Given the description of an element on the screen output the (x, y) to click on. 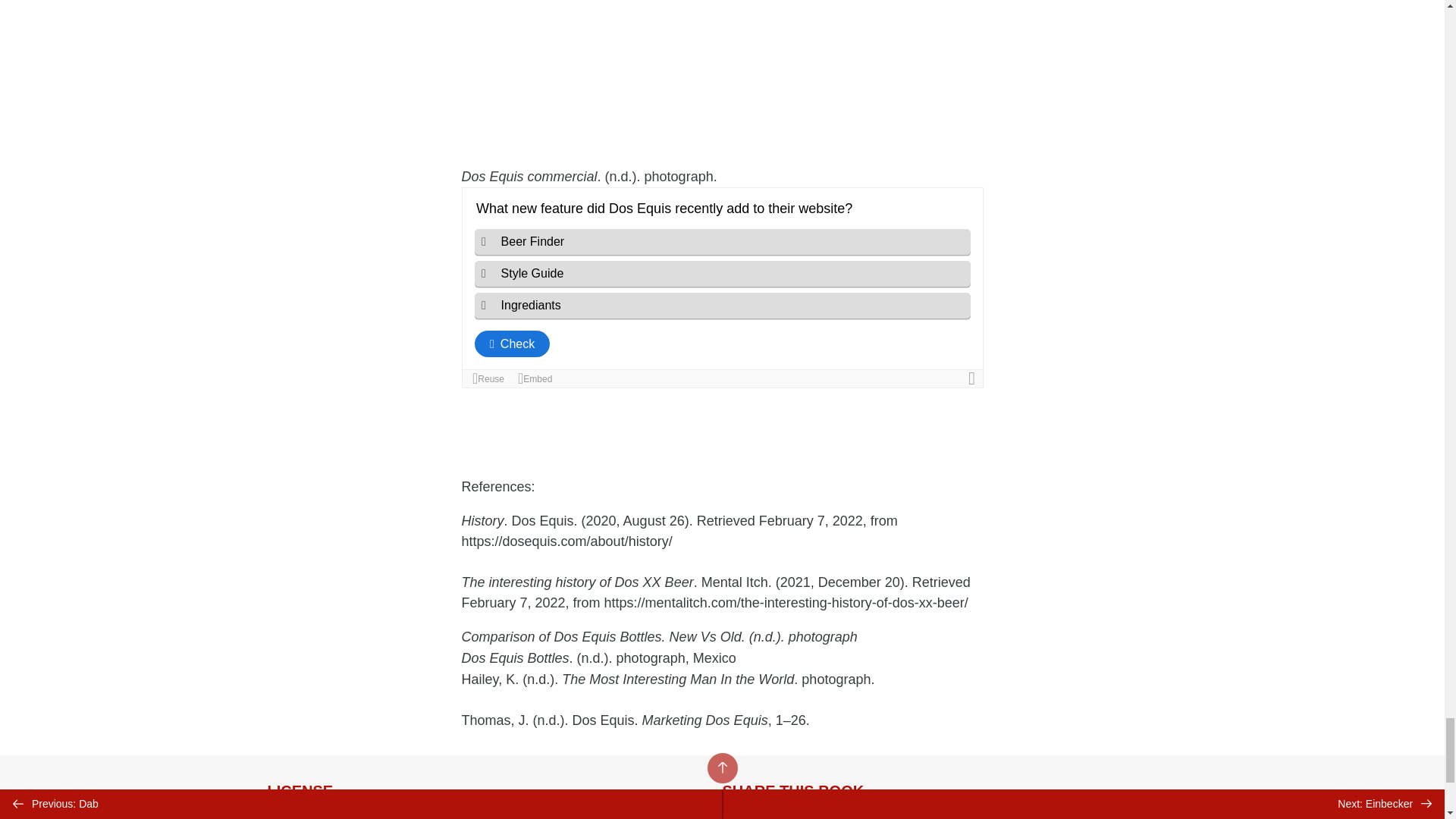
Share on Twitter (740, 816)
Share on Twitter (740, 816)
Knowledge Check (721, 287)
